Given the description of an element on the screen output the (x, y) to click on. 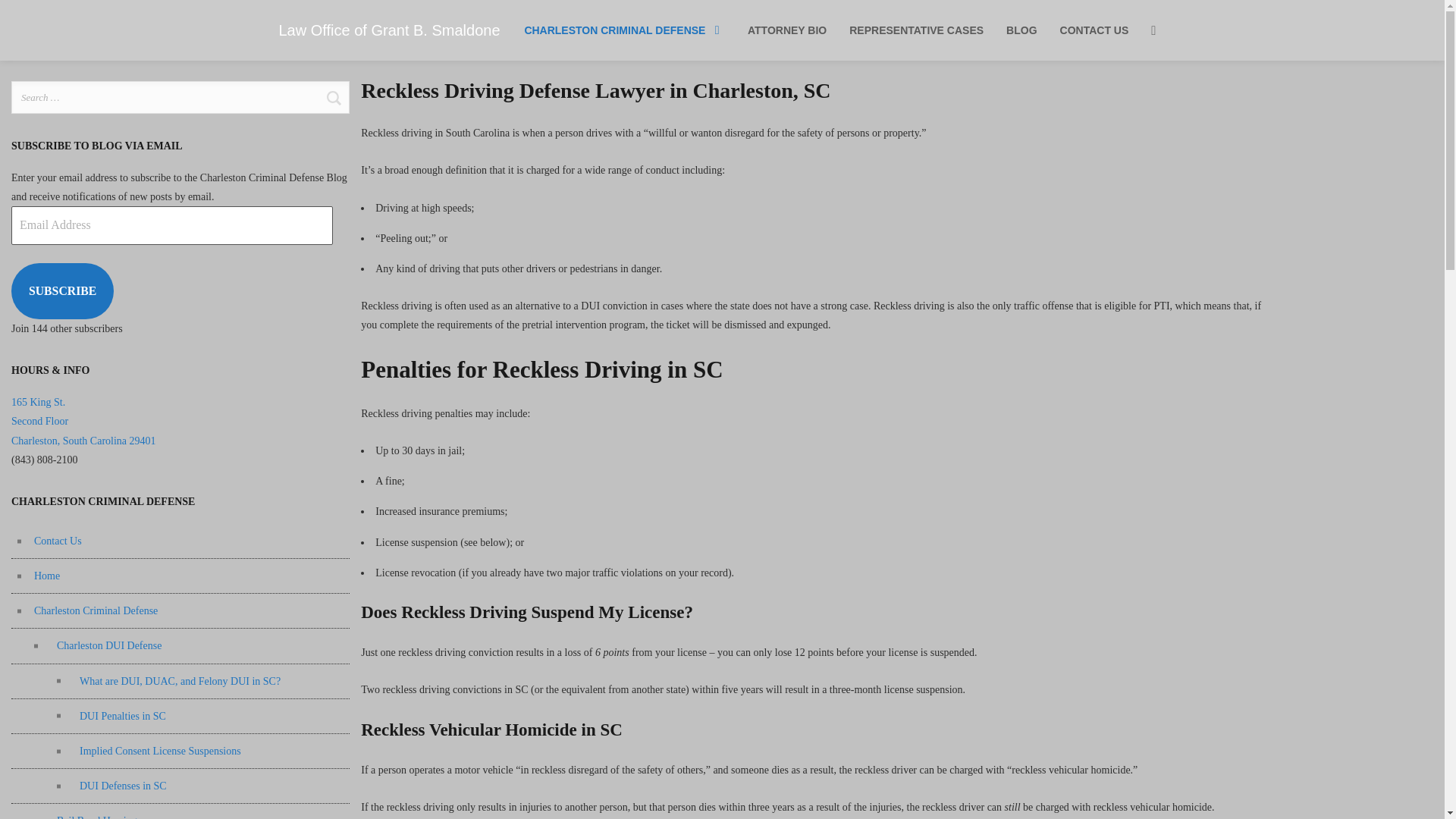
Law Office of Grant B. Smaldone (389, 30)
Search (333, 97)
Search (333, 97)
CHARLESTON CRIMINAL DEFENSE (624, 30)
